Given the description of an element on the screen output the (x, y) to click on. 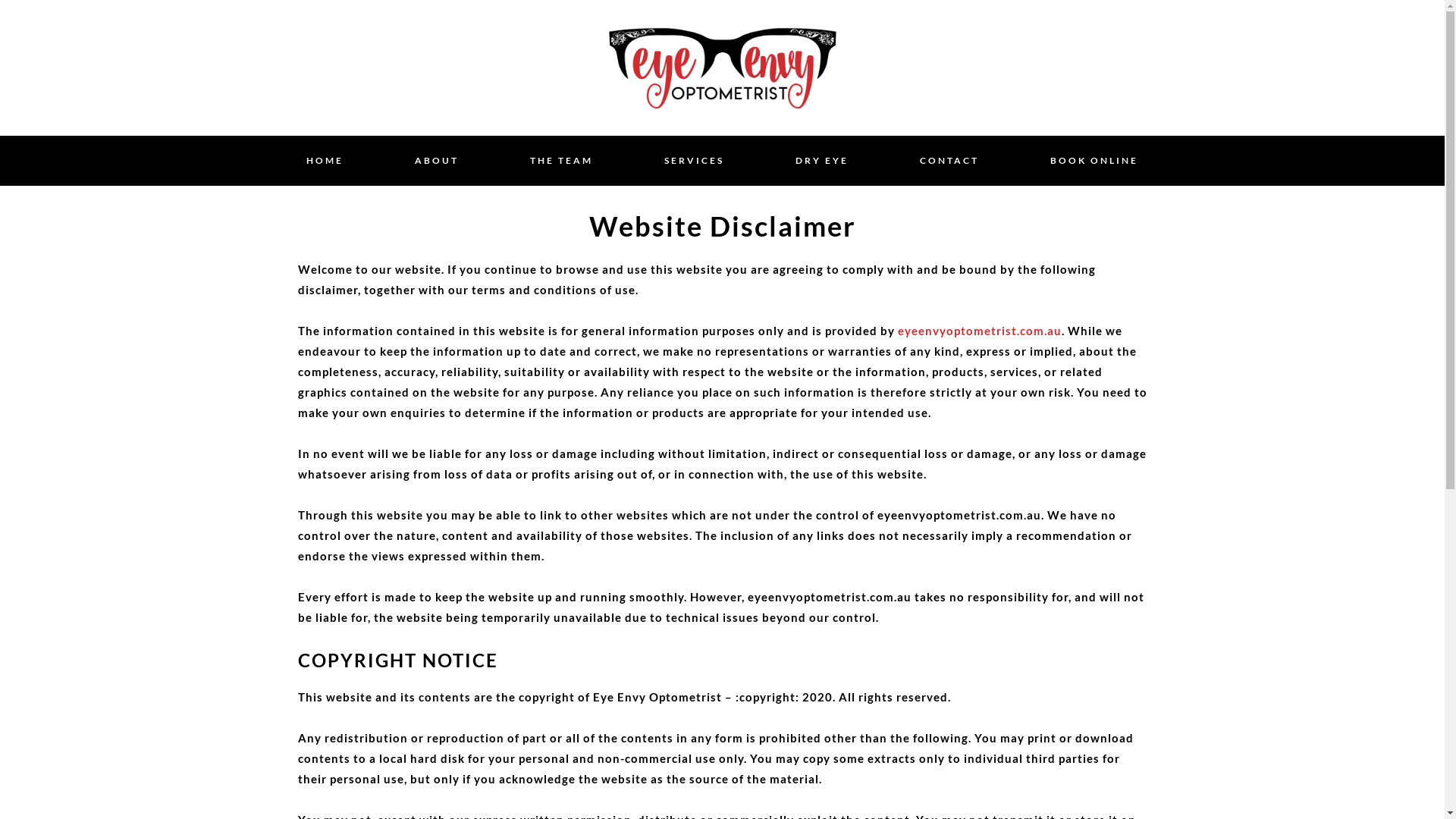
ABOUT Element type: text (435, 160)
SERVICES Element type: text (694, 160)
BOOK ONLINE Element type: text (1093, 160)
eyeenvyoptometrist.com.au Element type: text (979, 330)
HOME Element type: text (324, 160)
THE TEAM Element type: text (560, 160)
DRY EYE Element type: text (820, 160)
CONTACT Element type: text (948, 160)
